Given the description of an element on the screen output the (x, y) to click on. 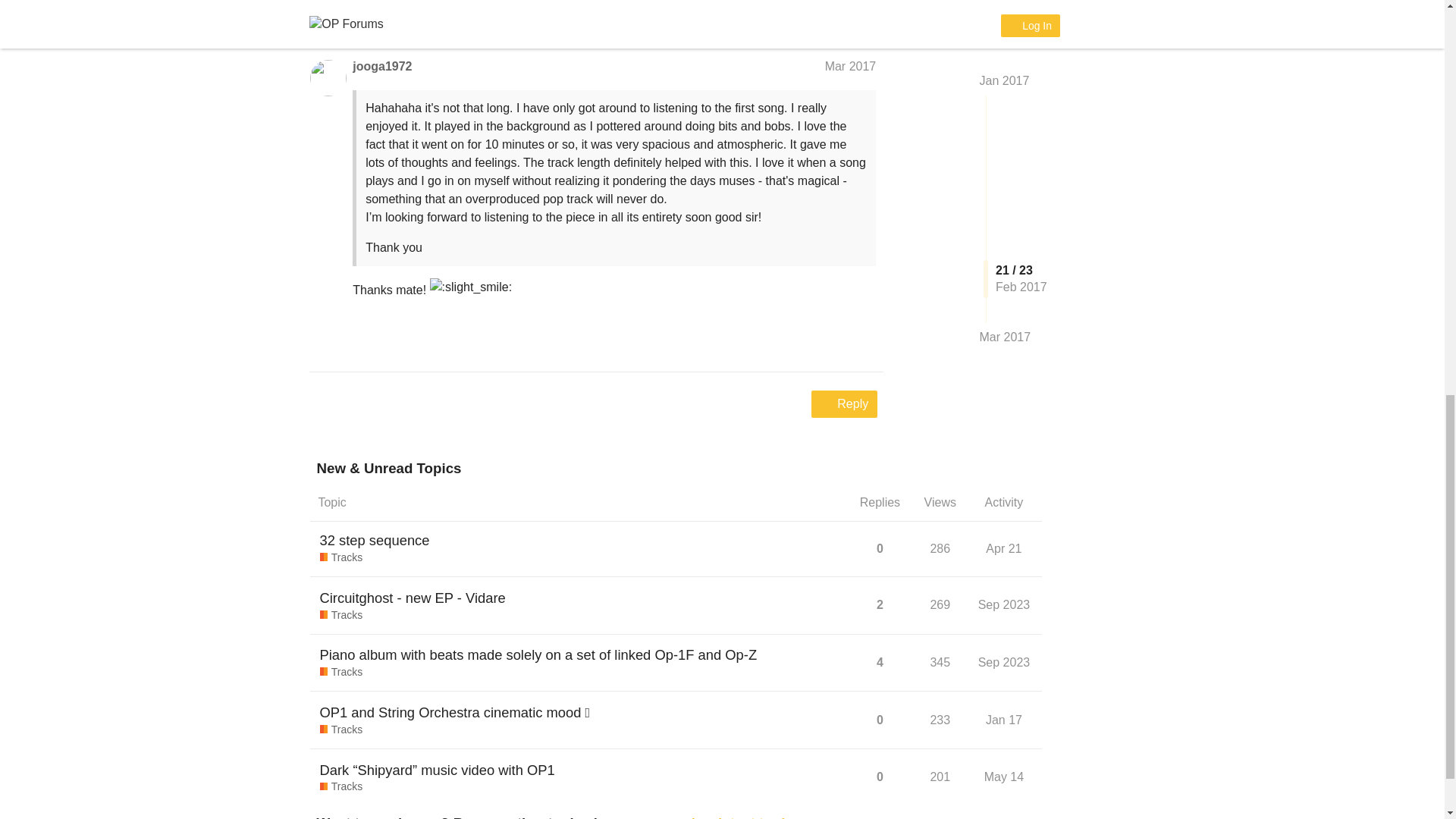
Apr 21 (1003, 548)
Post date (850, 65)
Reply (843, 403)
Mar 2017 (850, 65)
Sep 2023 (1003, 604)
Sep 2023 (1003, 662)
Circuitghost - new EP - Vidare (412, 597)
jooga1972 (382, 66)
32 step sequence (374, 539)
